Given the description of an element on the screen output the (x, y) to click on. 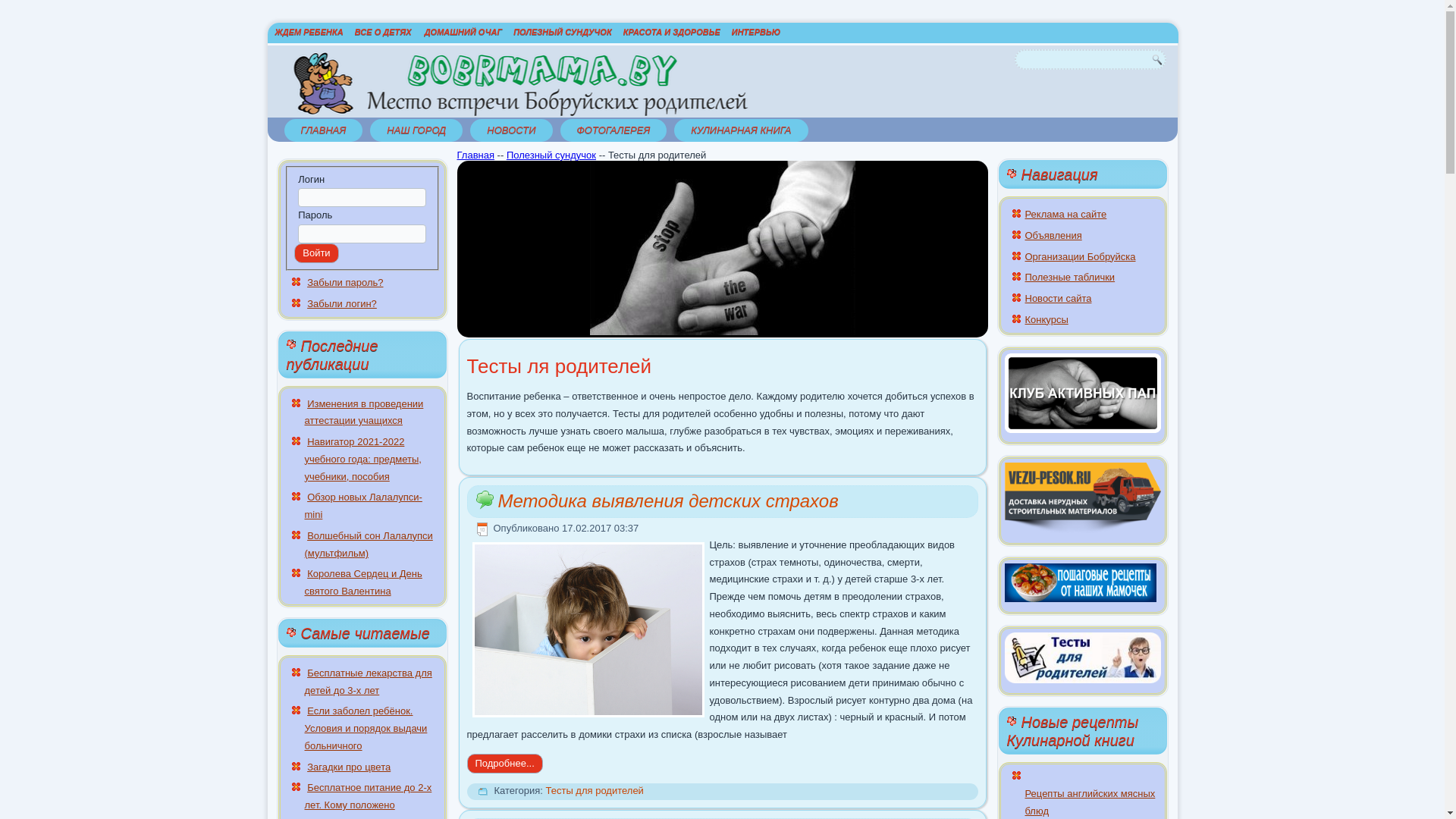
stop the war  Element type: hover (722, 247)
